Given the description of an element on the screen output the (x, y) to click on. 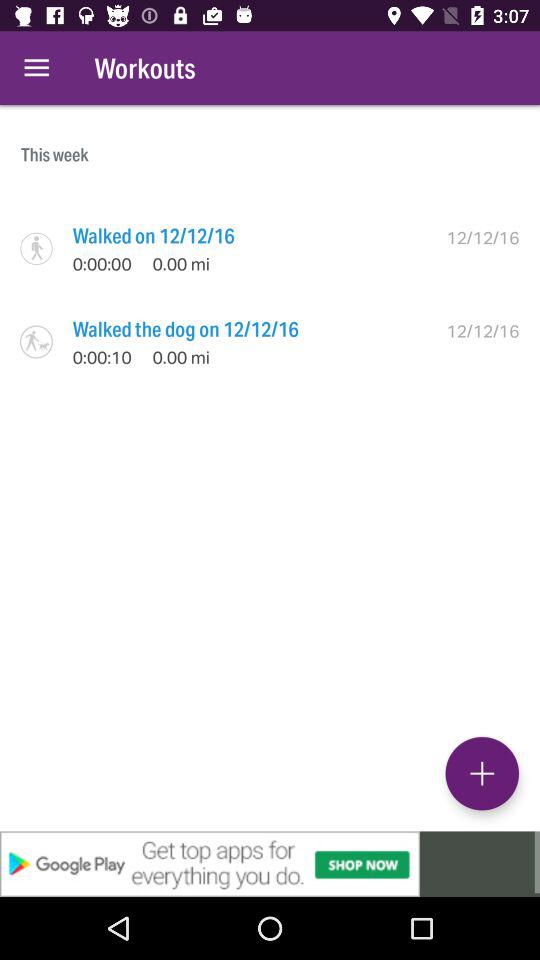
potential advertisement (270, 864)
